Given the description of an element on the screen output the (x, y) to click on. 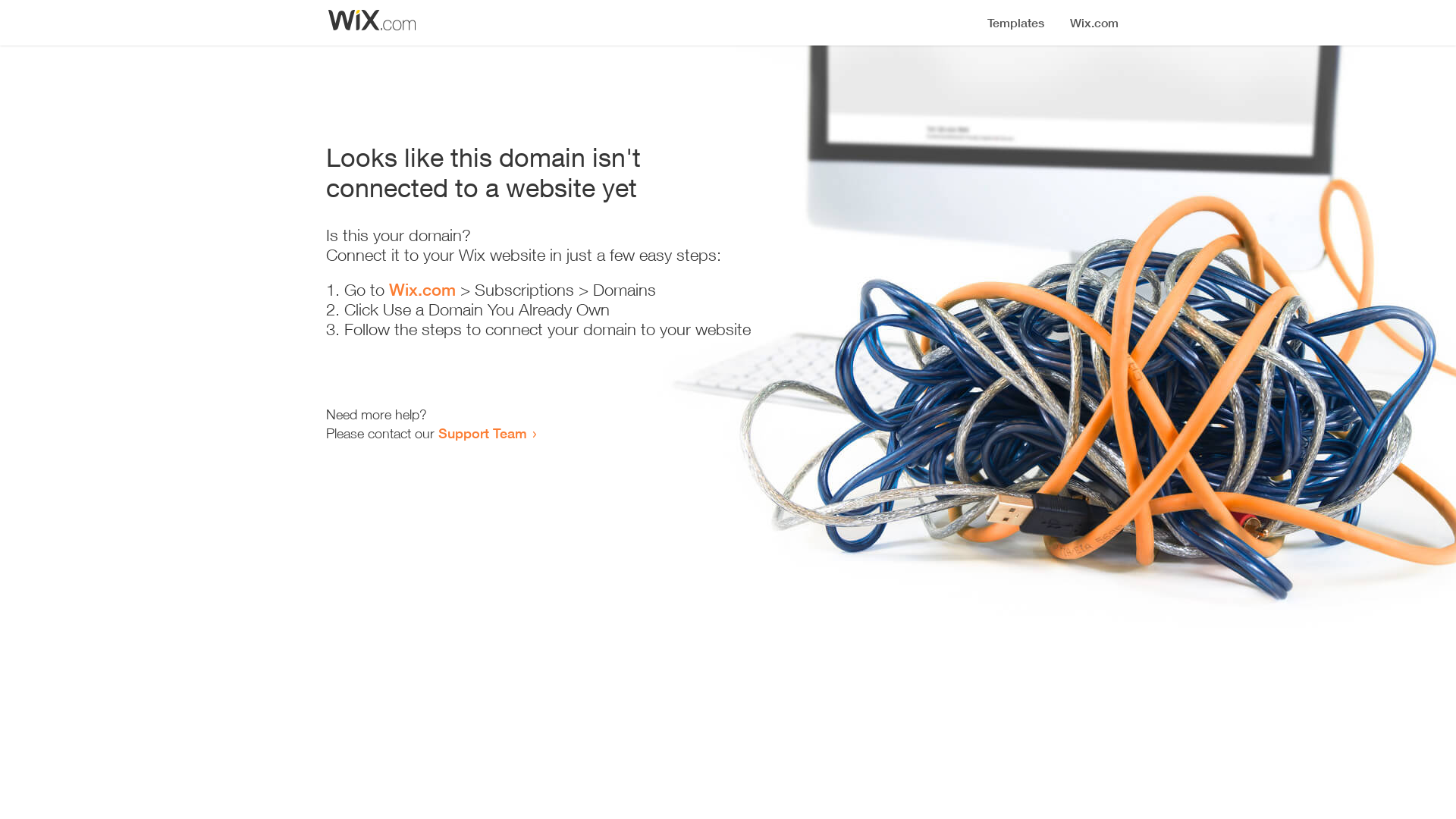
Support Team Element type: text (482, 432)
Wix.com Element type: text (422, 289)
